Given the description of an element on the screen output the (x, y) to click on. 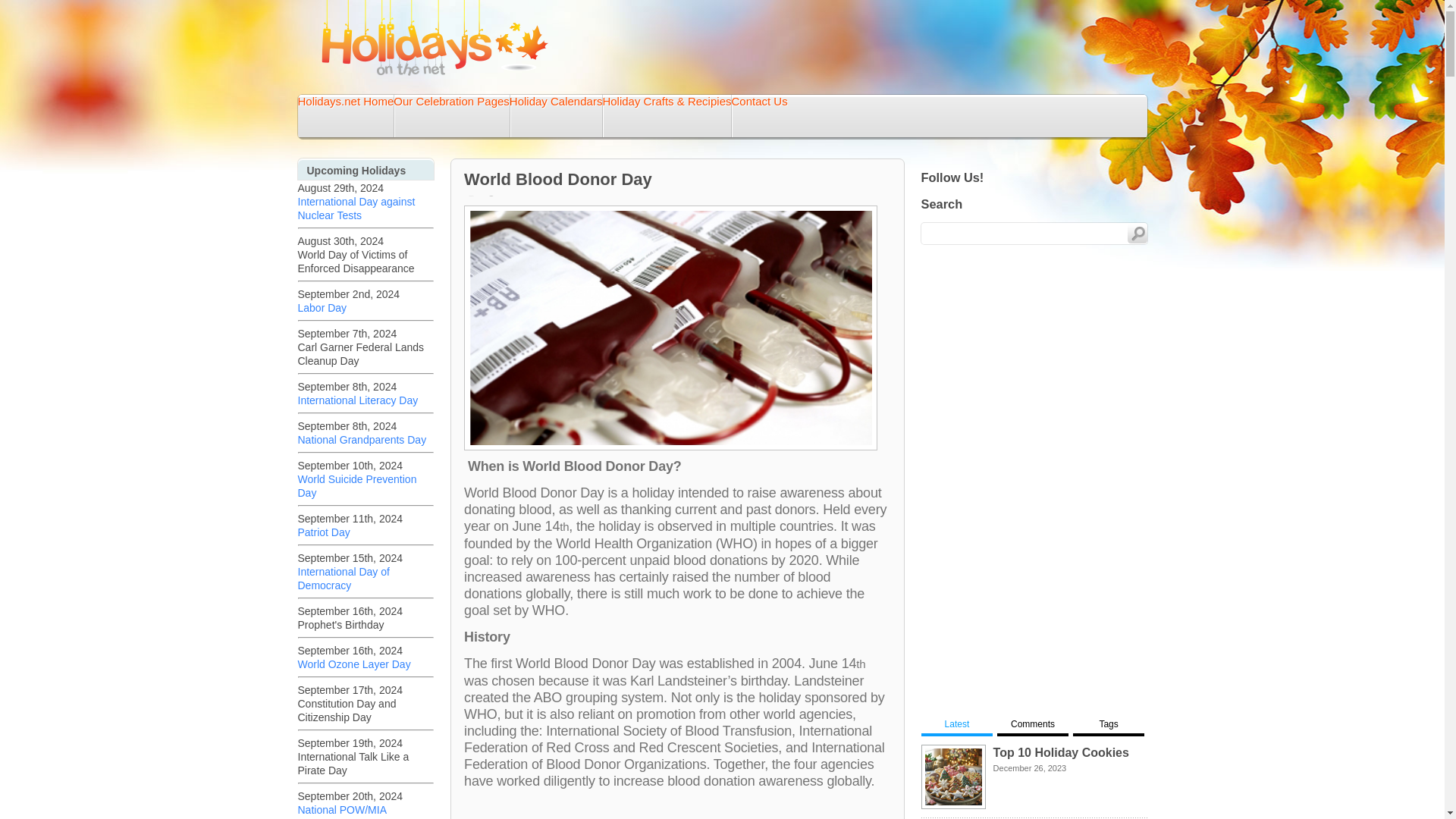
Contact Us (758, 101)
Our Celebration Pages (451, 101)
Search (1136, 233)
Advertisement (677, 809)
Holiday Calendars (555, 101)
Holidays on the net (434, 38)
Holidays.net Home (345, 101)
